Given the description of an element on the screen output the (x, y) to click on. 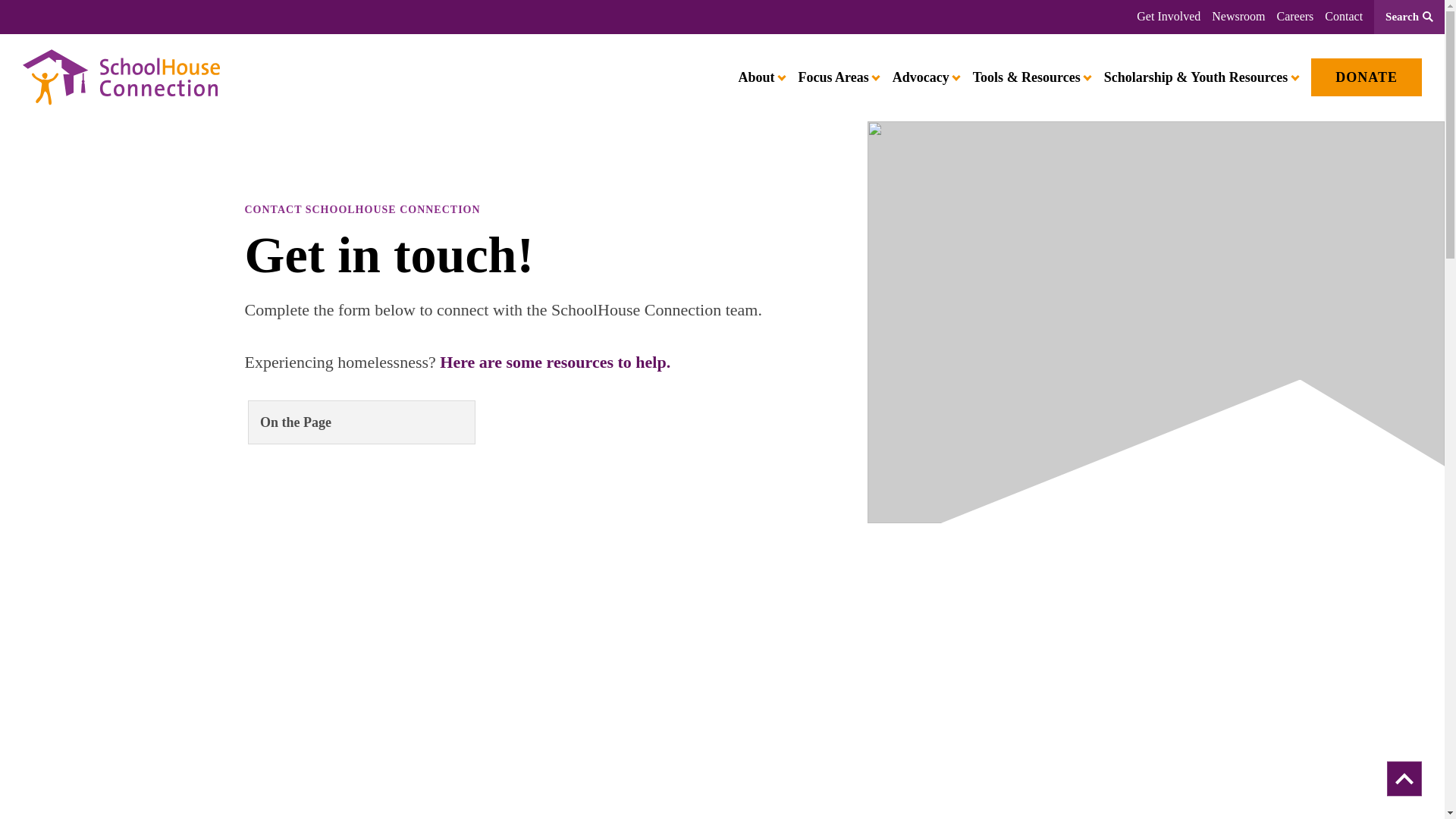
Newsroom (1238, 17)
Contact (1343, 17)
Get Involved (1168, 17)
Here are some resources to help. (554, 361)
Careers (1294, 17)
homepage (121, 77)
DONATE (1366, 77)
Focus Areas (837, 77)
